Given the description of an element on the screen output the (x, y) to click on. 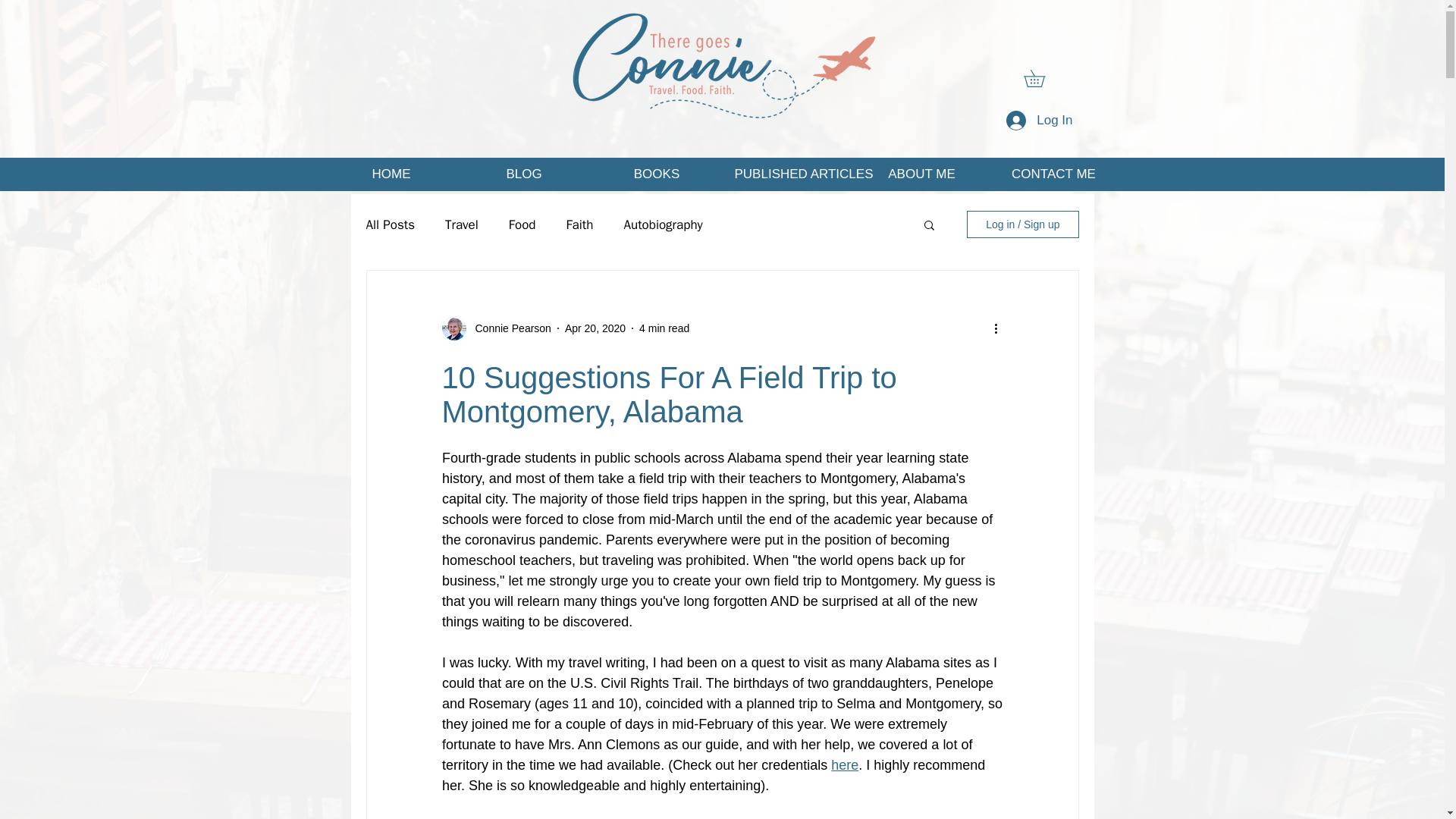
Top 10 Christian Blog (721, 65)
Connie Pearson (507, 328)
Travel (462, 224)
CONTACT ME (1053, 174)
BOOKS (655, 174)
All Posts (389, 224)
Autobiography (662, 224)
ABOUT ME (921, 174)
Food (521, 224)
Faith (579, 224)
PUBLISHED ARTICLES (789, 174)
HOME (390, 174)
Apr 20, 2020 (595, 328)
BLOG (524, 174)
Log In (1039, 120)
